Given the description of an element on the screen output the (x, y) to click on. 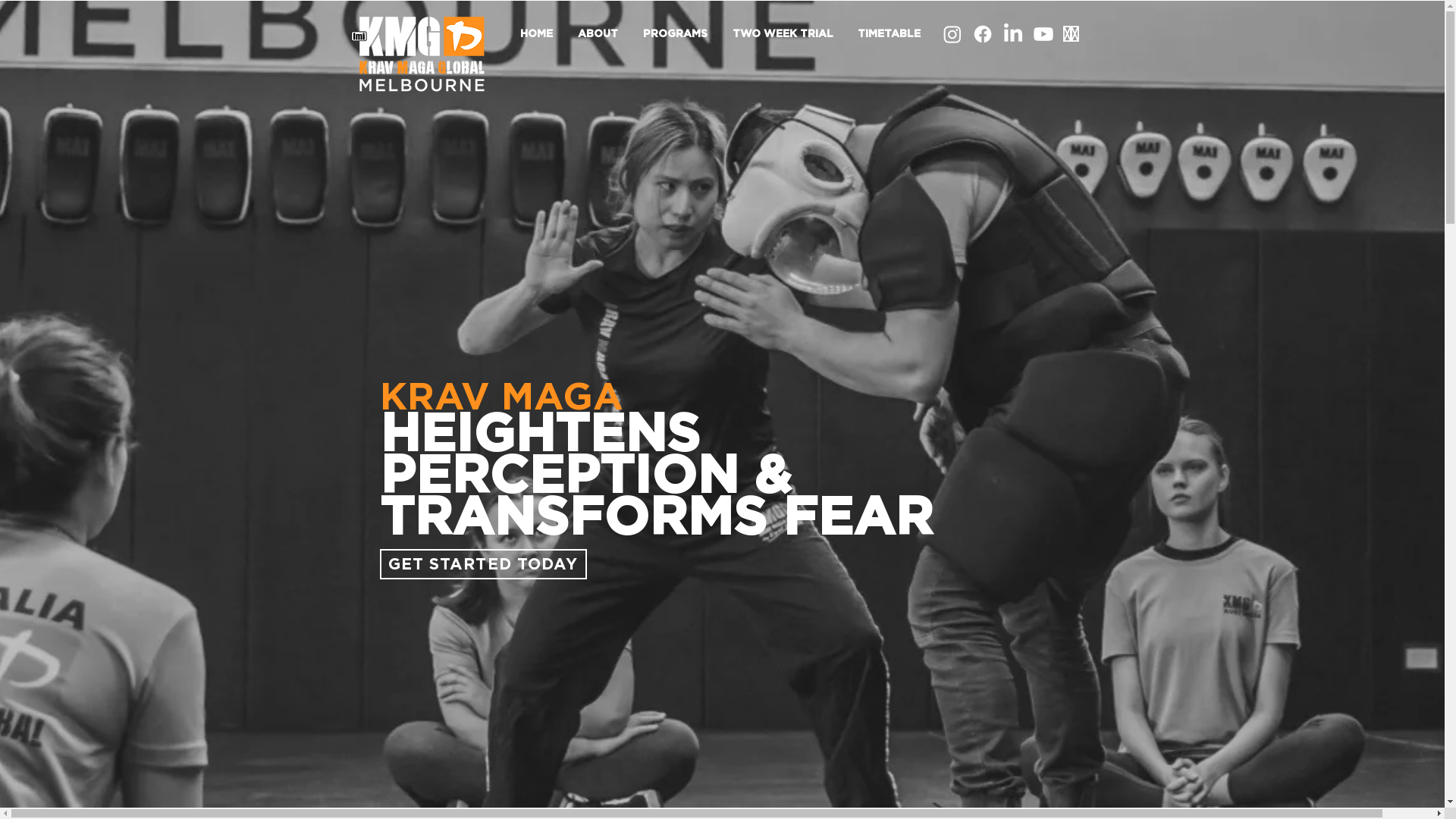
TWO WEEK TRIAL Element type: text (787, 34)
PROGRAMS Element type: text (679, 34)
GET STARTED TODAY Element type: text (482, 564)
ABOUT Element type: text (602, 34)
HOME Element type: text (541, 34)
TIMETABLE Element type: text (892, 34)
